Given the description of an element on the screen output the (x, y) to click on. 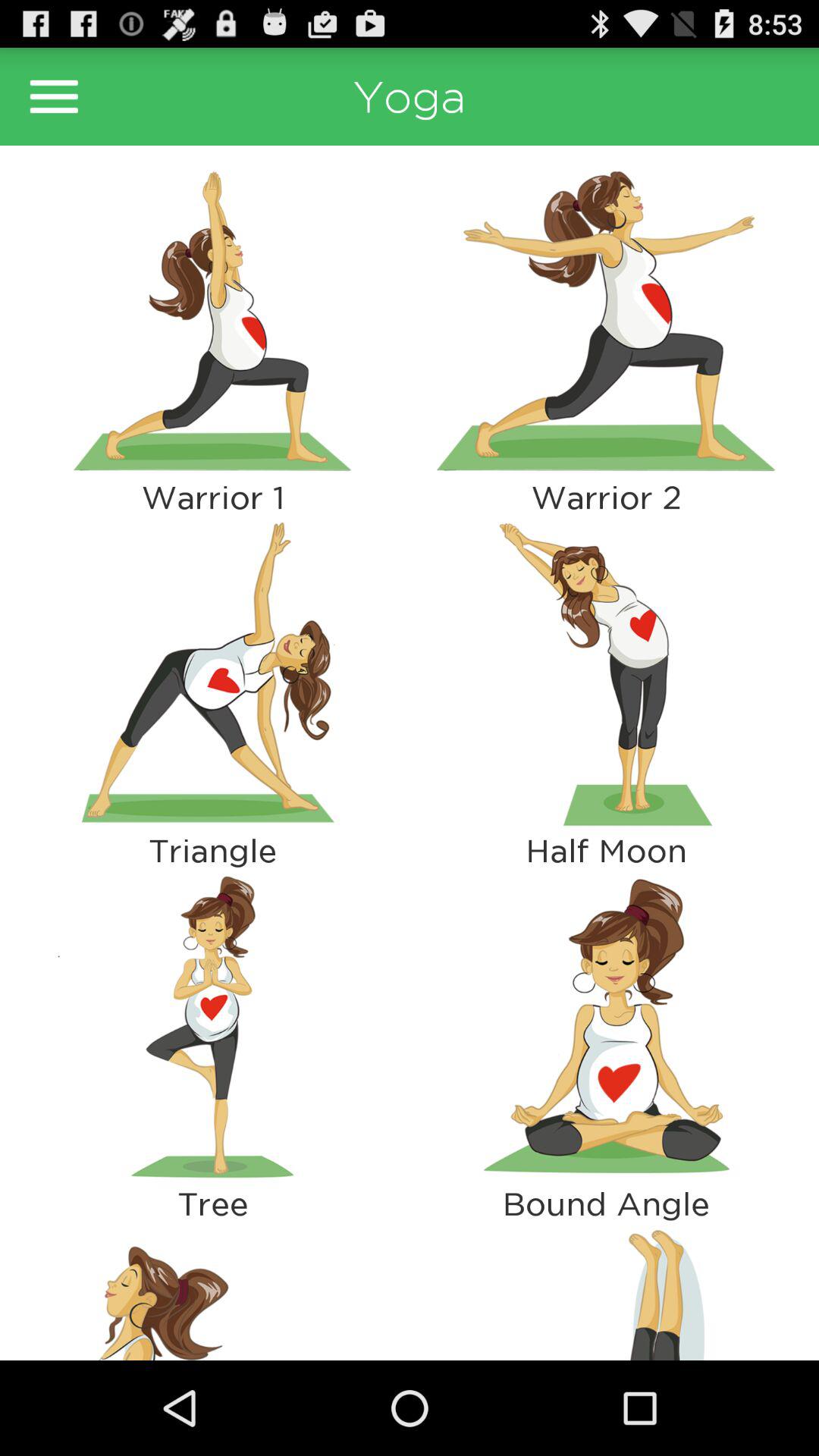
select the app next to the bound angle (212, 1290)
